Given the description of an element on the screen output the (x, y) to click on. 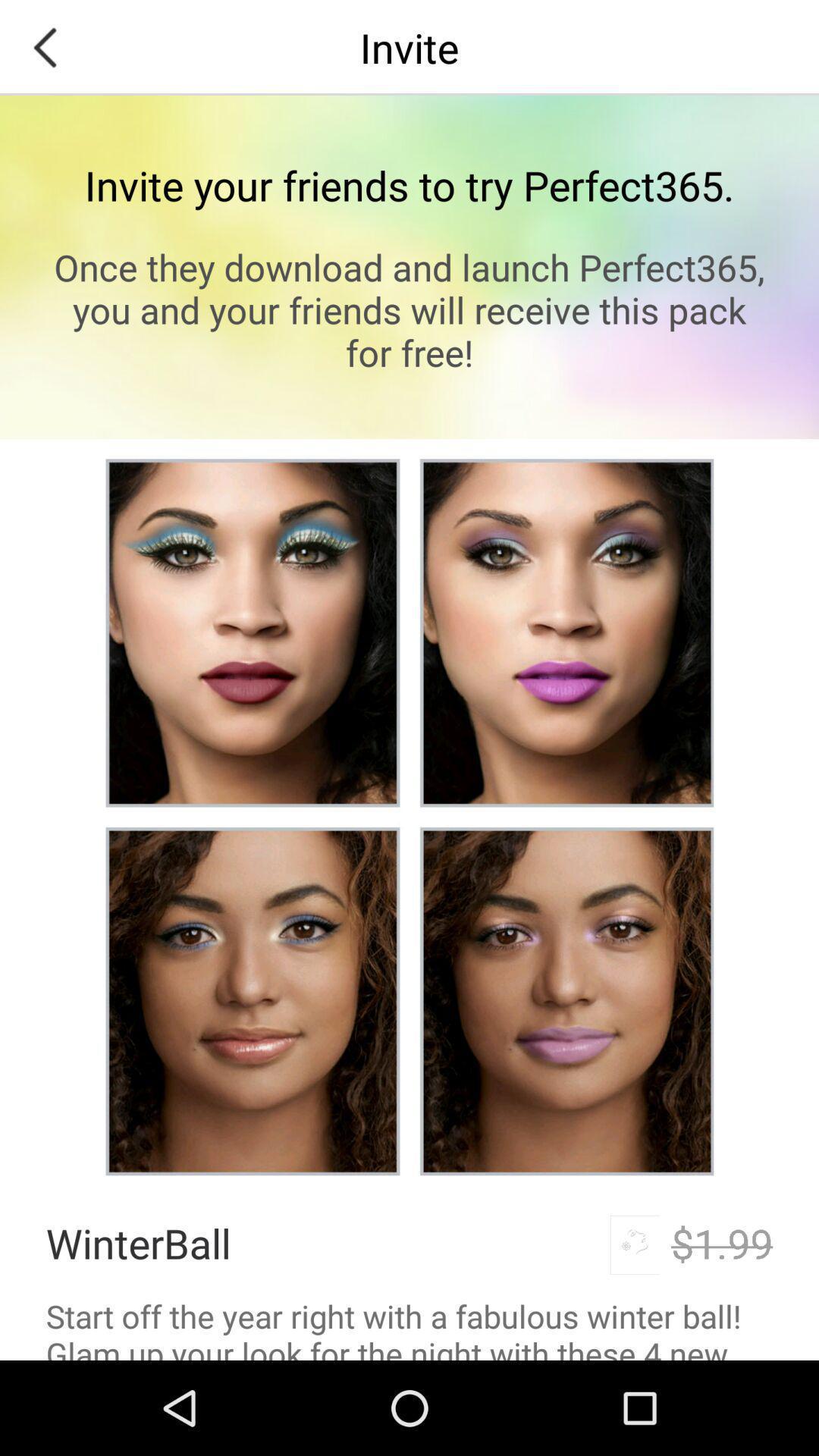
choose icon at the bottom left corner (138, 1242)
